Given the description of an element on the screen output the (x, y) to click on. 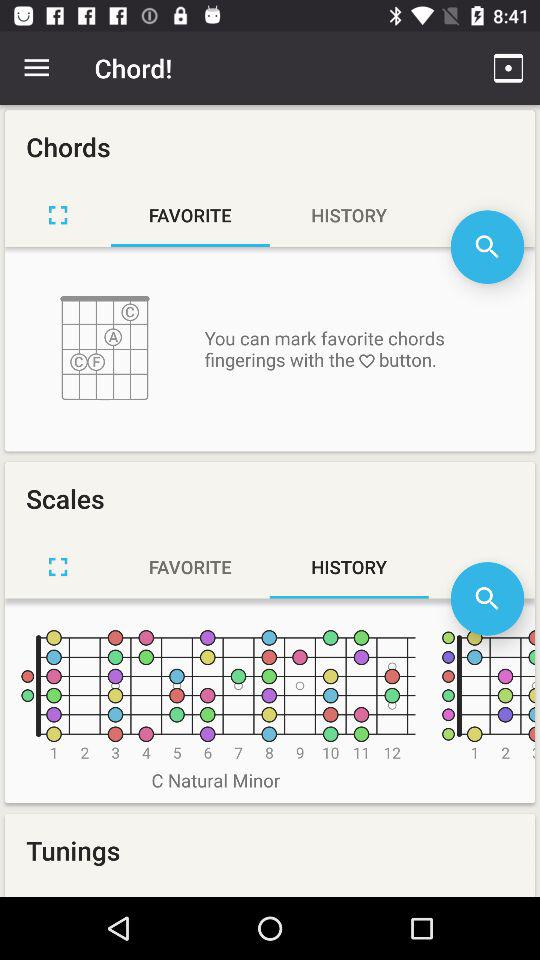
search button (487, 598)
